Given the description of an element on the screen output the (x, y) to click on. 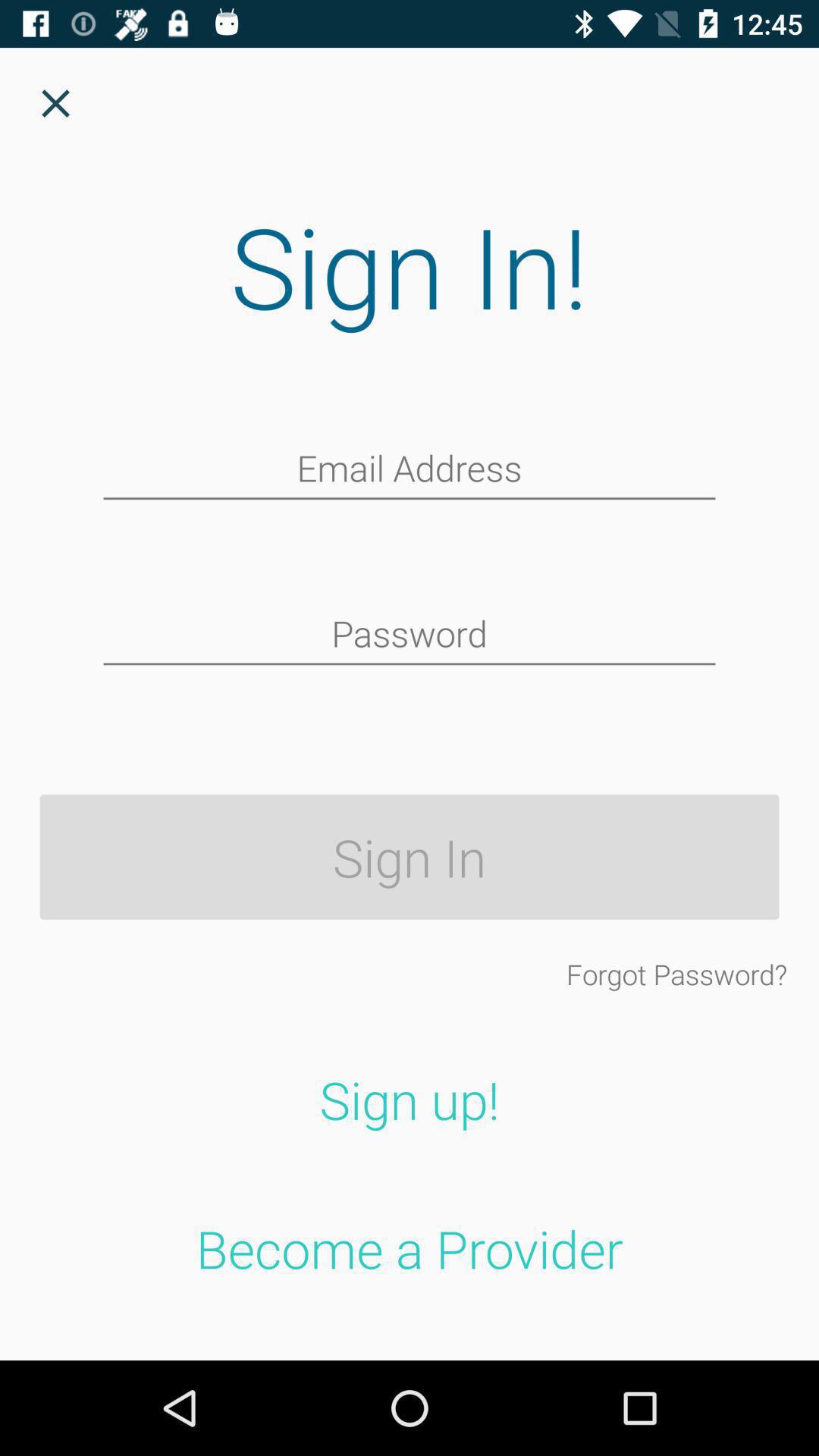
flip to the become a provider item (409, 1247)
